Given the description of an element on the screen output the (x, y) to click on. 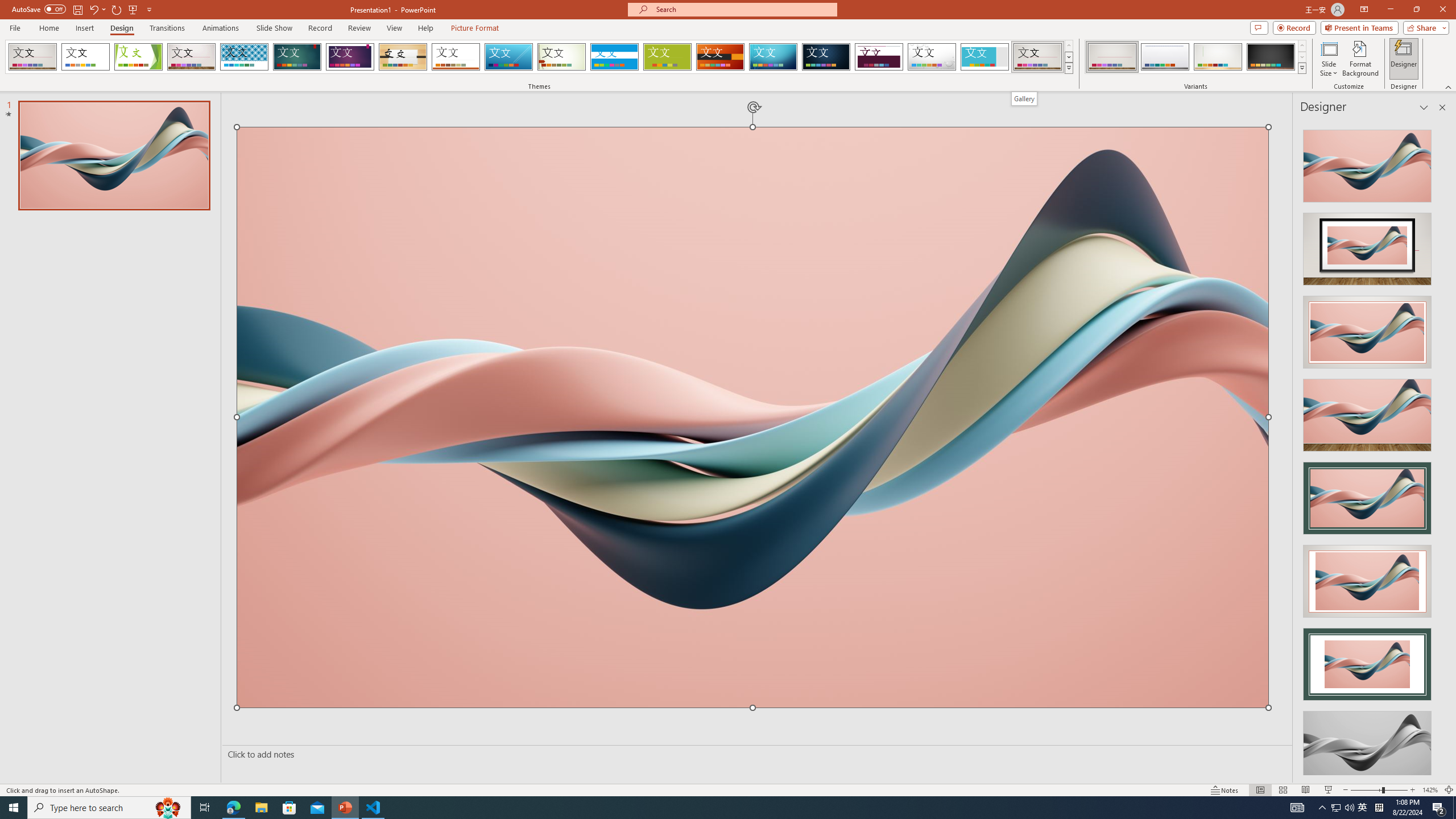
Slice (508, 56)
Wisp (561, 56)
Variants (1301, 67)
Gallery Variant 1 (1112, 56)
